Given the description of an element on the screen output the (x, y) to click on. 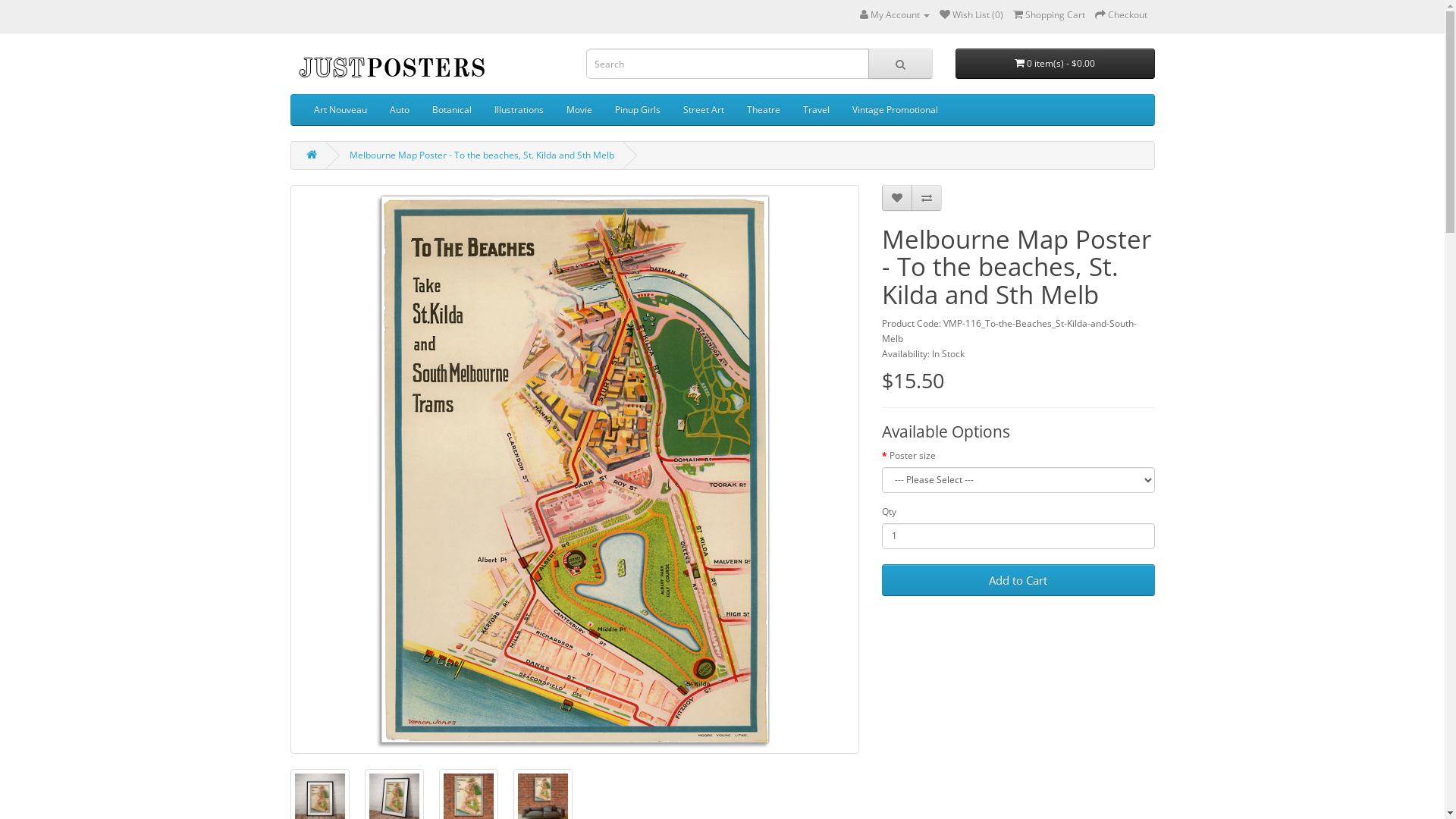
Street Art Element type: text (703, 109)
Vintage Promotional Element type: text (894, 109)
0 item(s) - $0.00 Element type: text (1054, 63)
Pinup Girls Element type: text (637, 109)
Botanical Element type: text (451, 109)
Theatre Element type: text (763, 109)
Auto Element type: text (398, 109)
Illustrations Element type: text (518, 109)
Checkout Element type: text (1121, 14)
My Account Element type: text (894, 14)
Add to Cart Element type: text (1017, 580)
Just Posters Element type: hover (390, 67)
Travel Element type: text (815, 109)
Shopping Cart Element type: text (1049, 14)
Art Nouveau Element type: text (339, 109)
Wish List (0) Element type: text (970, 14)
Movie Element type: text (579, 109)
